Given the description of an element on the screen output the (x, y) to click on. 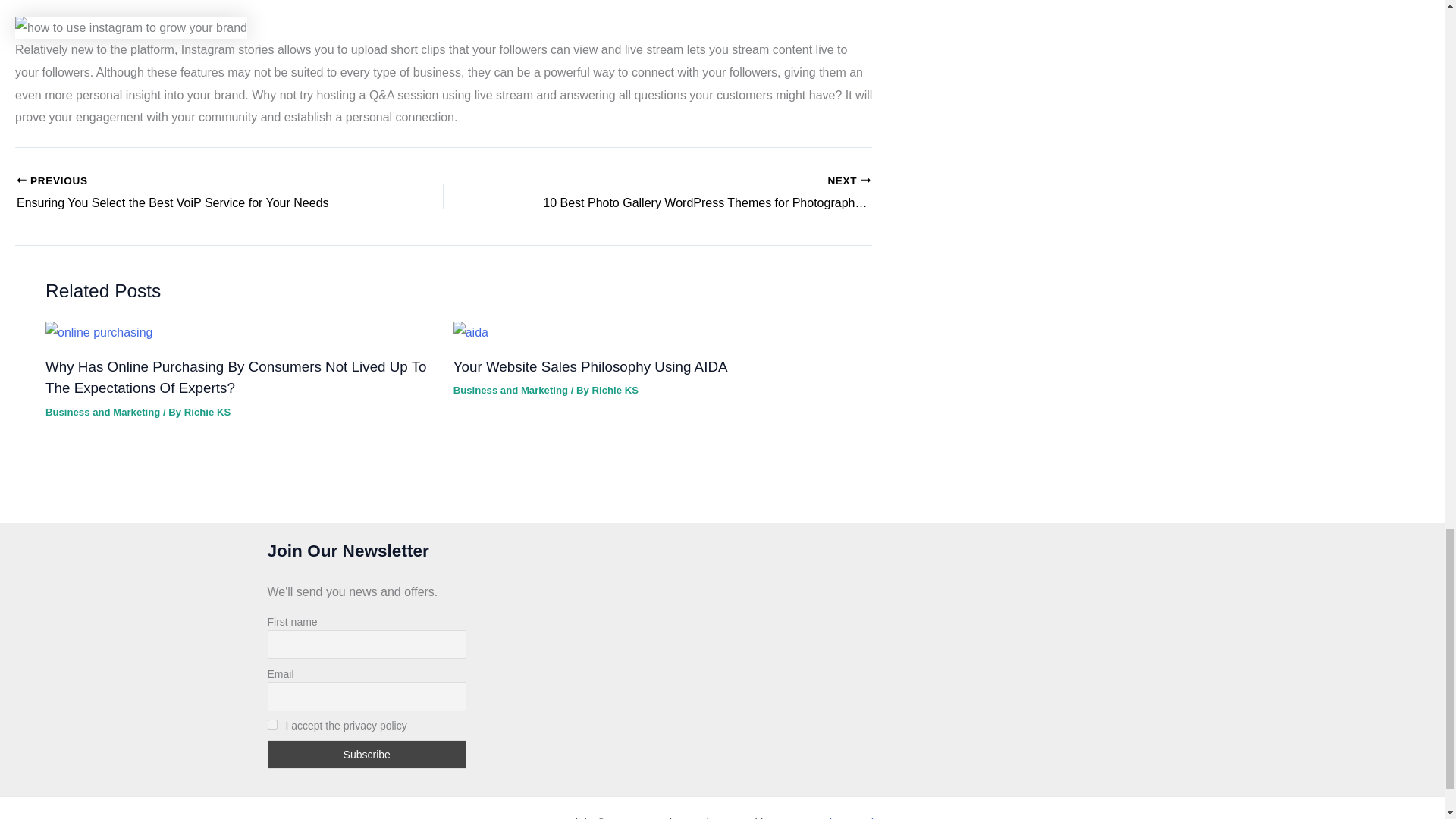
View all posts by Richie KS (207, 411)
View all posts by Richie KS (614, 389)
Subscribe (365, 754)
Ensuring You Select the Best VoiP Service for Your Needs (187, 192)
on (271, 724)
